Given the description of an element on the screen output the (x, y) to click on. 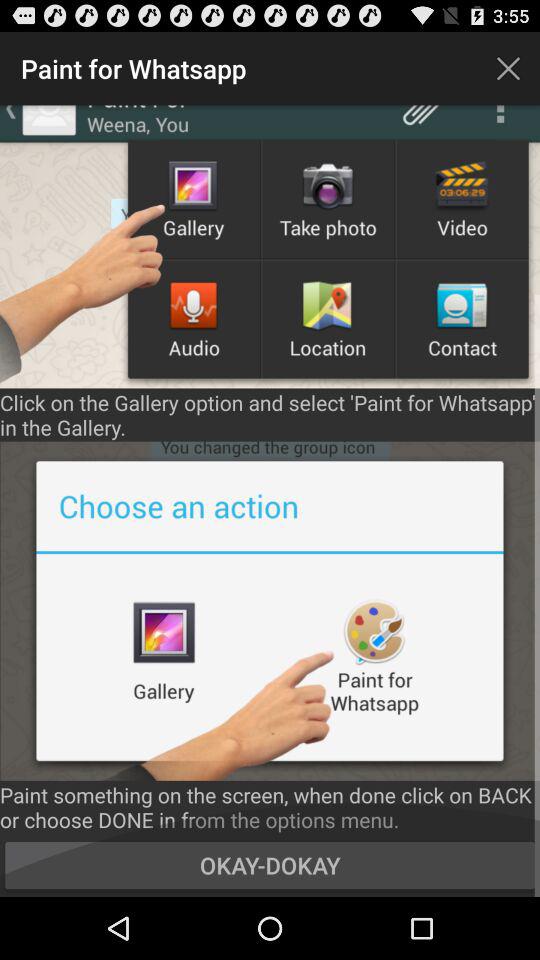
select the icon next to the paint for whatsapp item (508, 67)
